Given the description of an element on the screen output the (x, y) to click on. 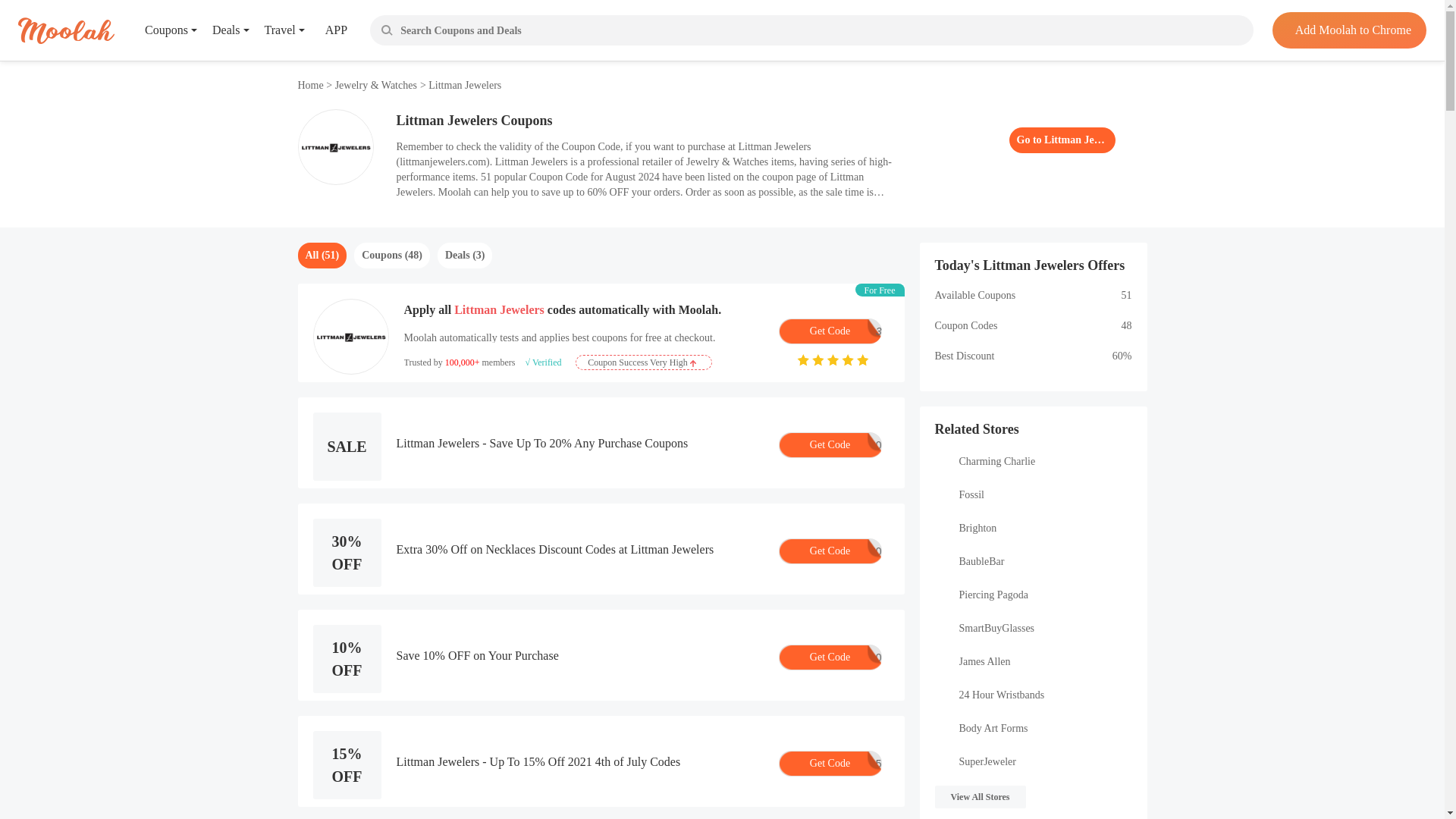
APP (324, 30)
Add Moolah to Chrome (1348, 30)
Home (828, 330)
Go to Littman Jewelers (311, 84)
